Given the description of an element on the screen output the (x, y) to click on. 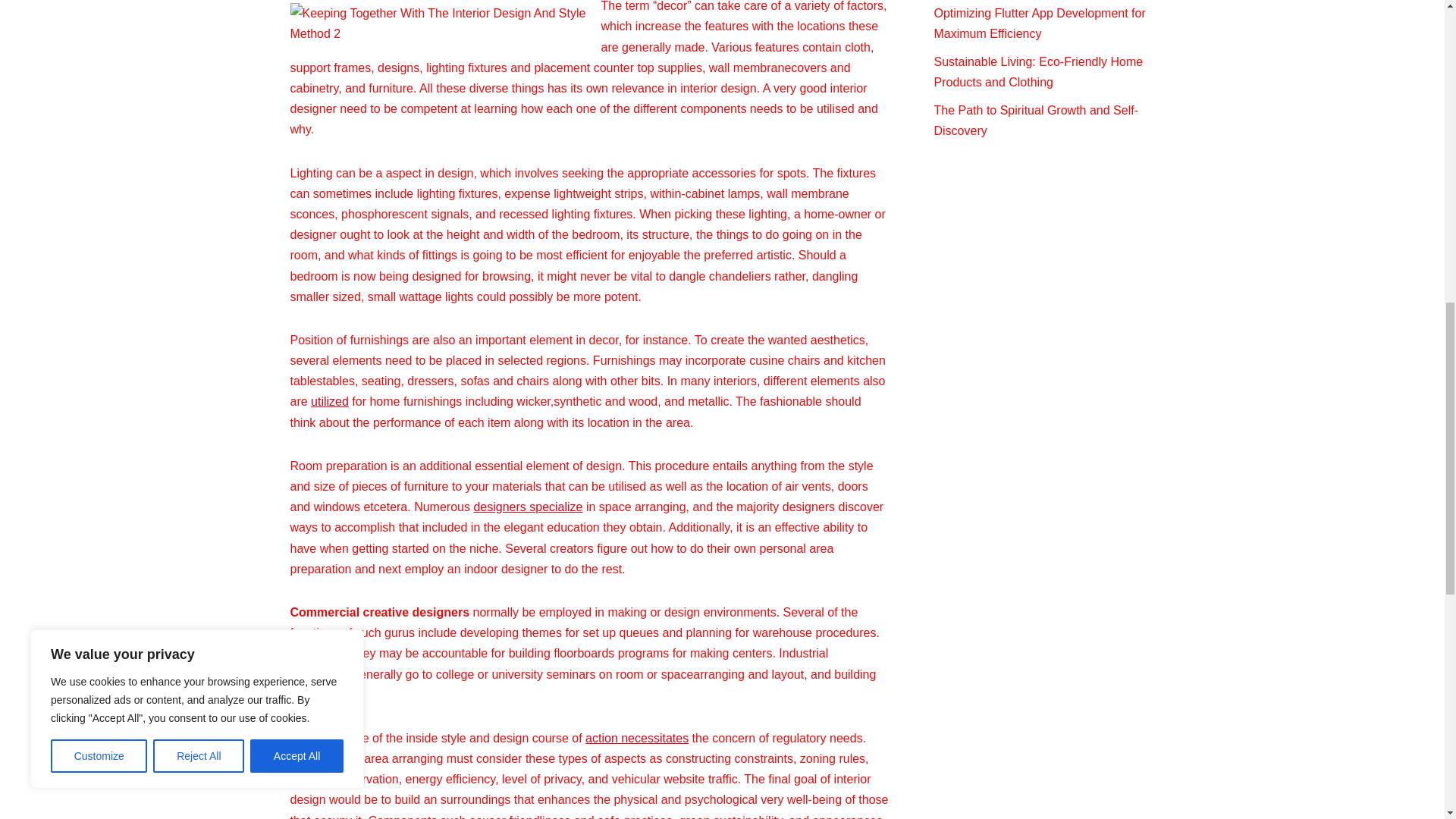
action necessitates (636, 738)
utilized (330, 400)
designers specialize (527, 506)
